Given the description of an element on the screen output the (x, y) to click on. 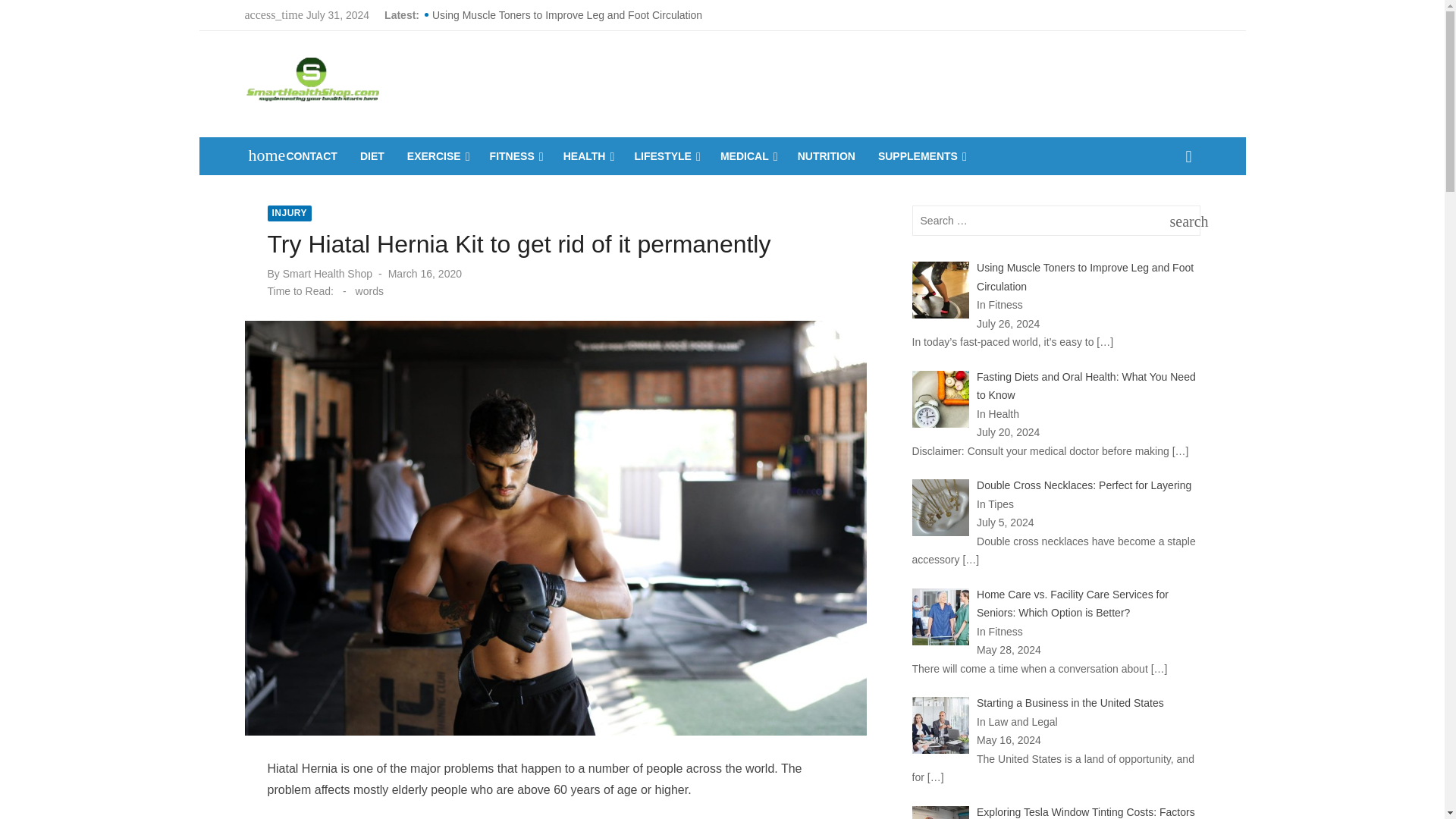
home (259, 154)
FITNESS (514, 156)
EXERCISE (436, 156)
HEALTH (588, 156)
DIET (371, 156)
Using Muscle Toners to Improve Leg and Foot Circulation (566, 15)
CONTACT (312, 156)
